Given the description of an element on the screen output the (x, y) to click on. 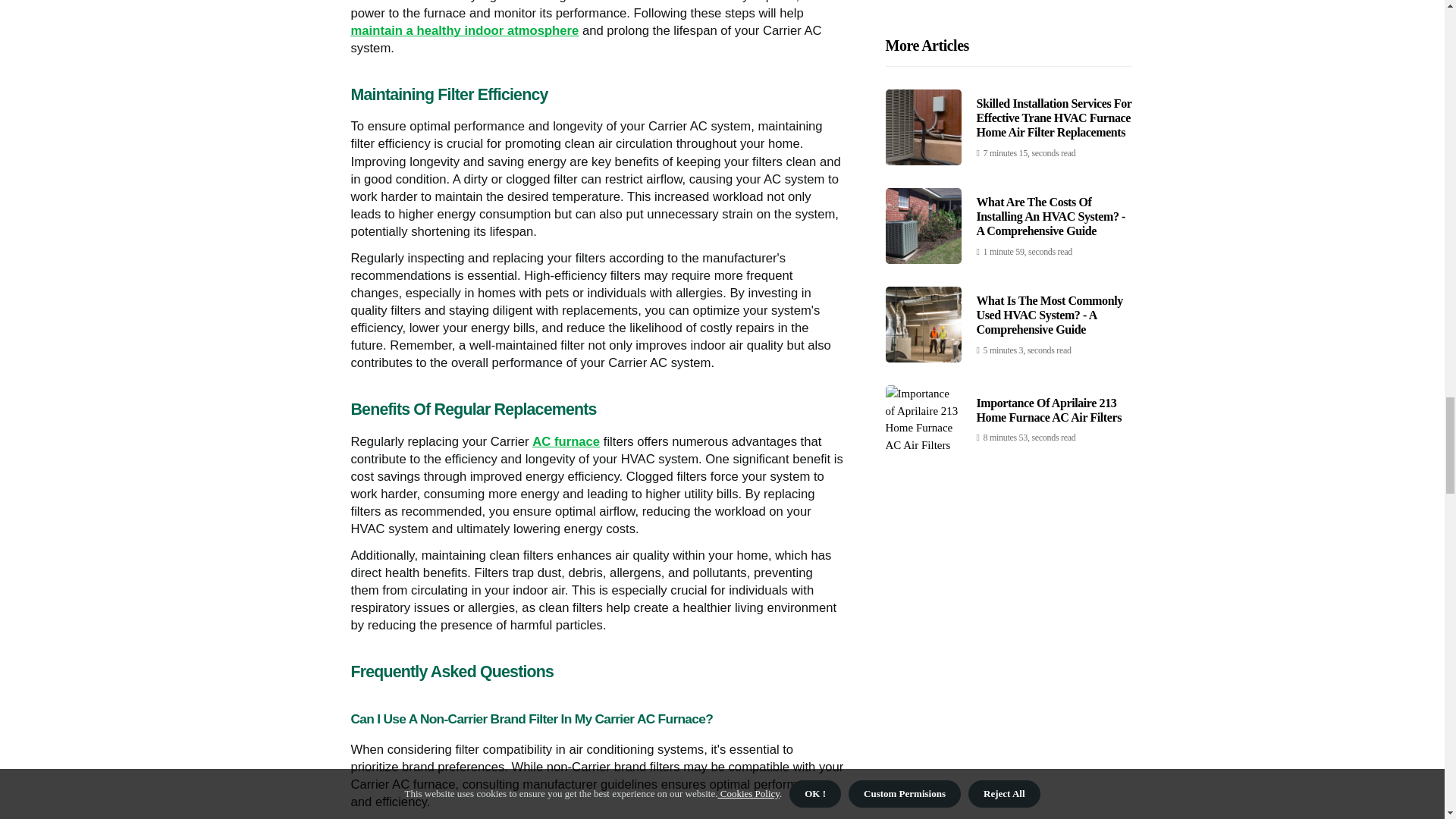
maintain a healthy indoor atmosphere (464, 30)
AC furnace (565, 440)
